Given the description of an element on the screen output the (x, y) to click on. 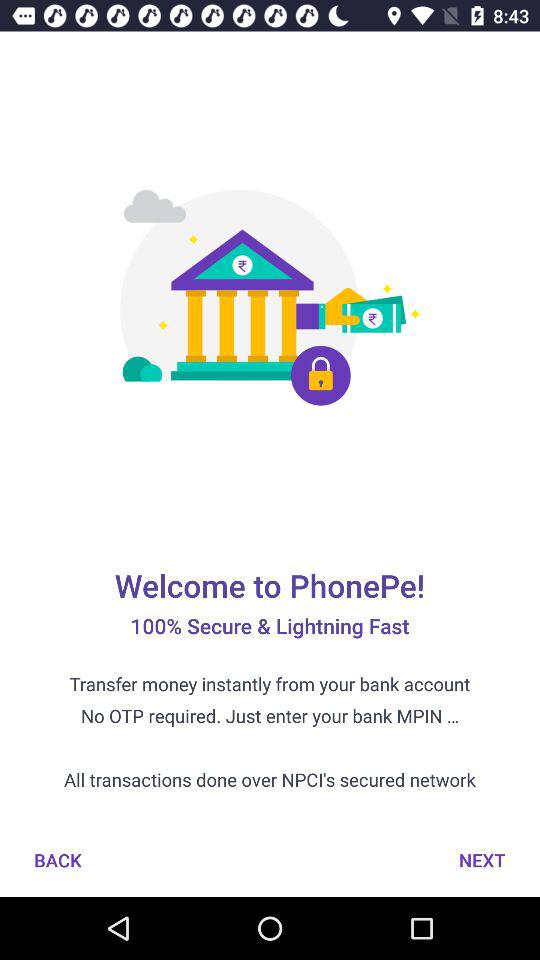
click item to the left of the next (57, 859)
